Given the description of an element on the screen output the (x, y) to click on. 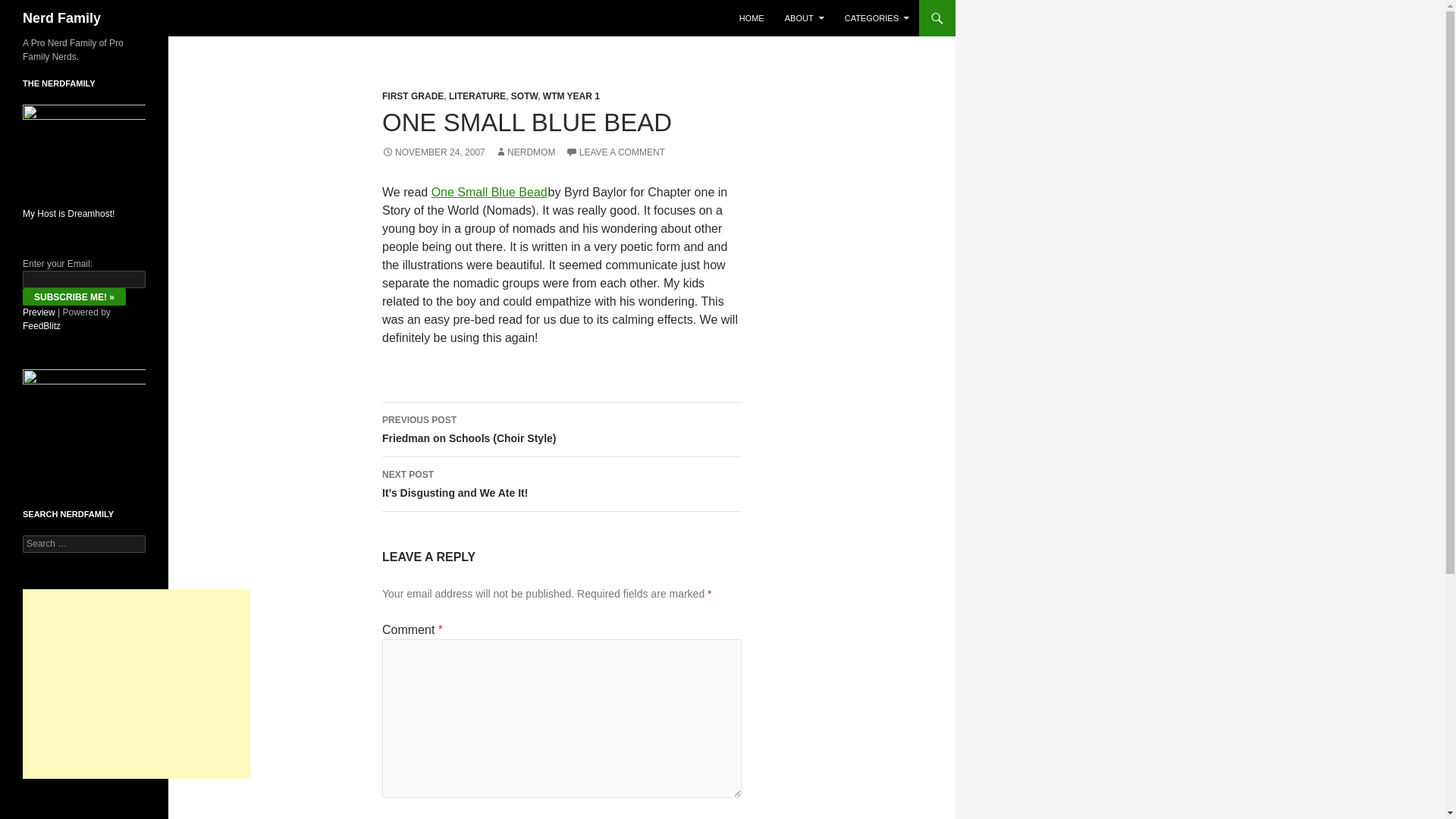
ABOUT (804, 18)
HOME (751, 18)
FIRST GRADE (412, 95)
Preview (39, 312)
WTM YEAR 1 (571, 95)
NOVEMBER 24, 2007 (432, 152)
One Small Blue Bead (488, 192)
CATEGORIES (876, 18)
FeedBlitz (42, 326)
SOTW (524, 95)
Search (30, 8)
Nerd Family (61, 18)
My Host is Dreamhost! (69, 213)
NERDMOM (524, 152)
LITERATURE (476, 95)
